Given the description of an element on the screen output the (x, y) to click on. 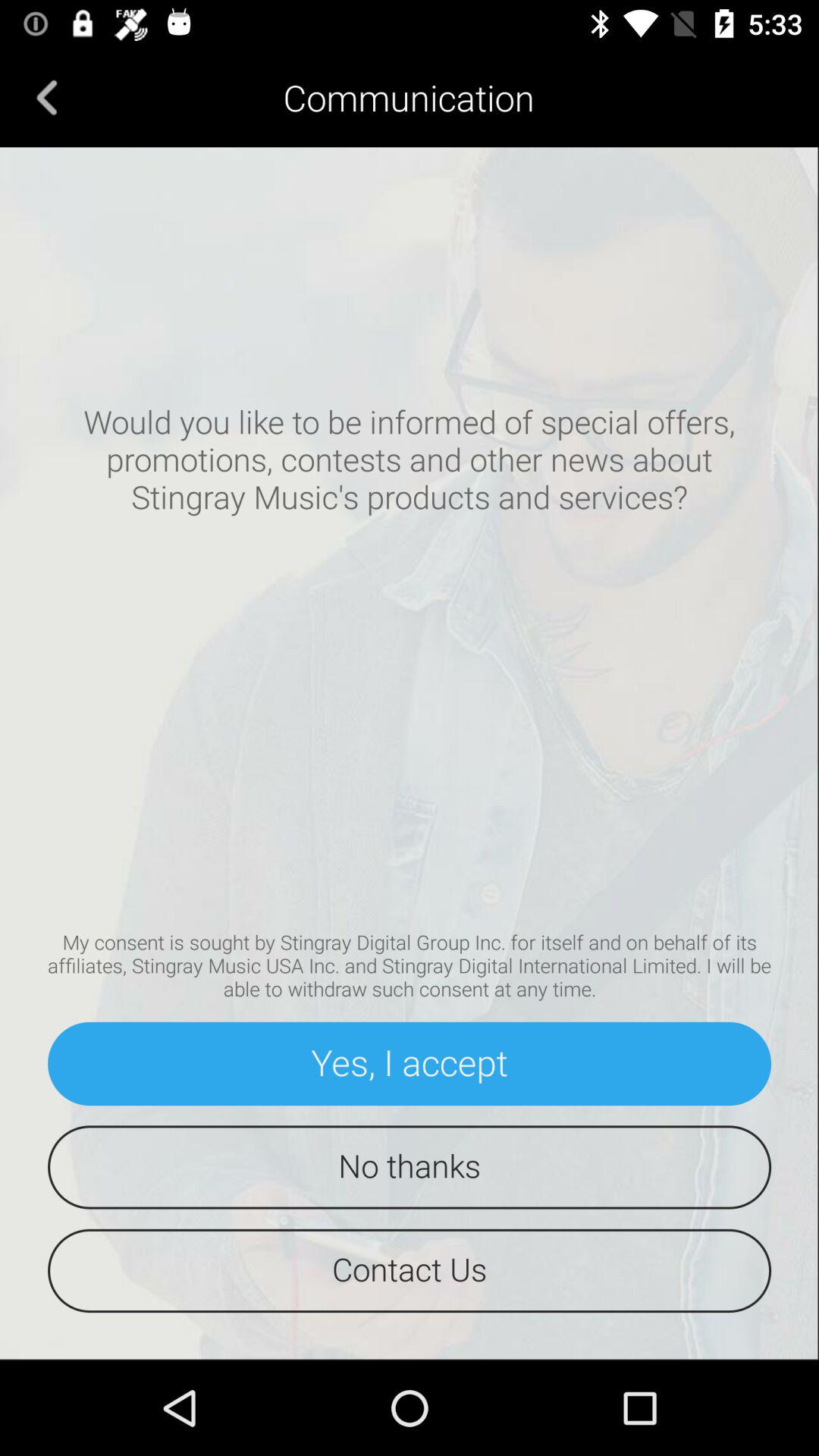
select icon next to the communication (47, 97)
